Given the description of an element on the screen output the (x, y) to click on. 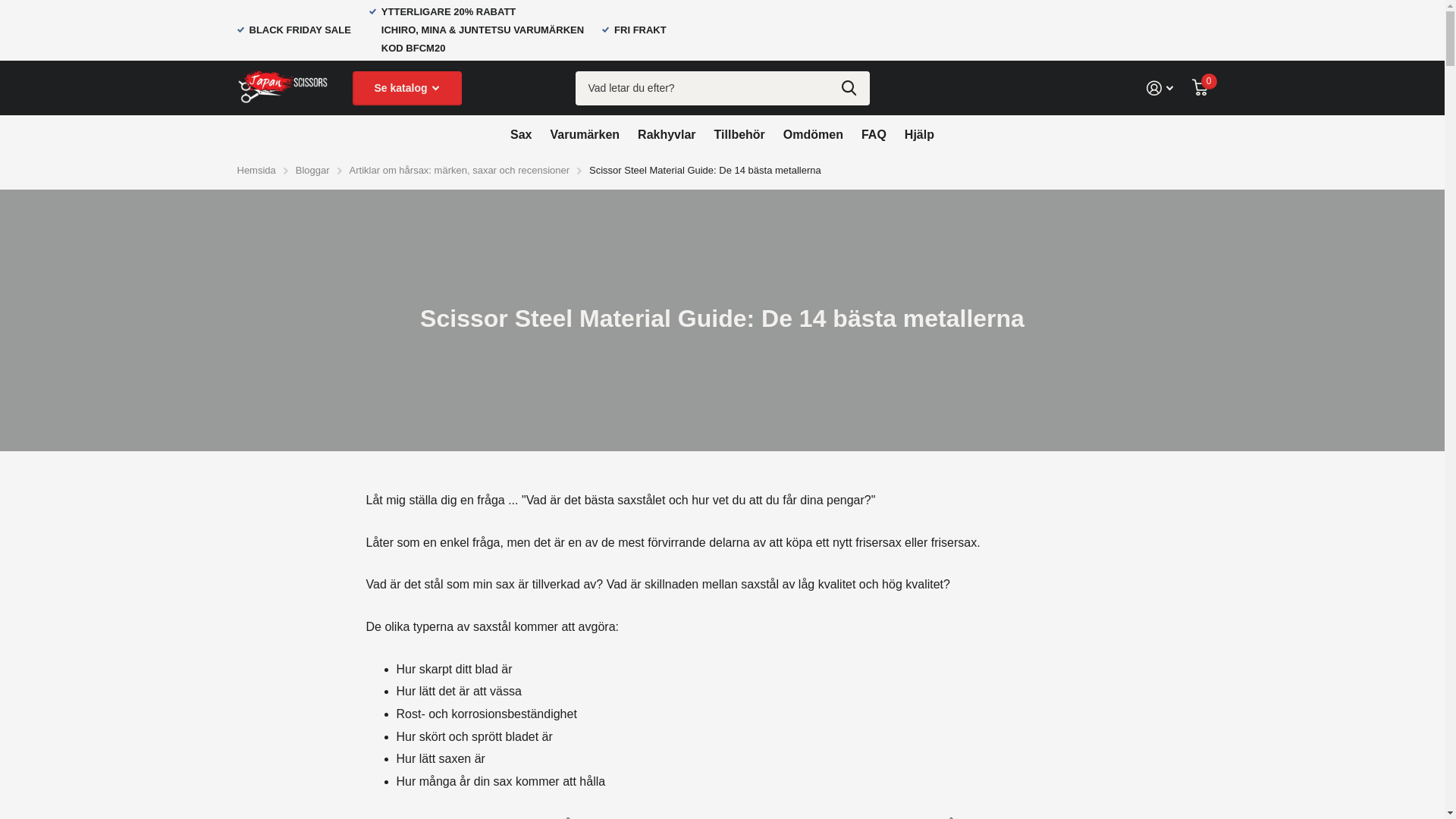
0 Element type: text (1200, 87)
Rakhyvlar Element type: text (666, 134)
Hemsida Element type: text (255, 169)
Se katalog Element type: text (406, 88)
Sax Element type: text (520, 134)
FAQ Element type: text (873, 134)
Bloggar Element type: text (312, 169)
